Given the description of an element on the screen output the (x, y) to click on. 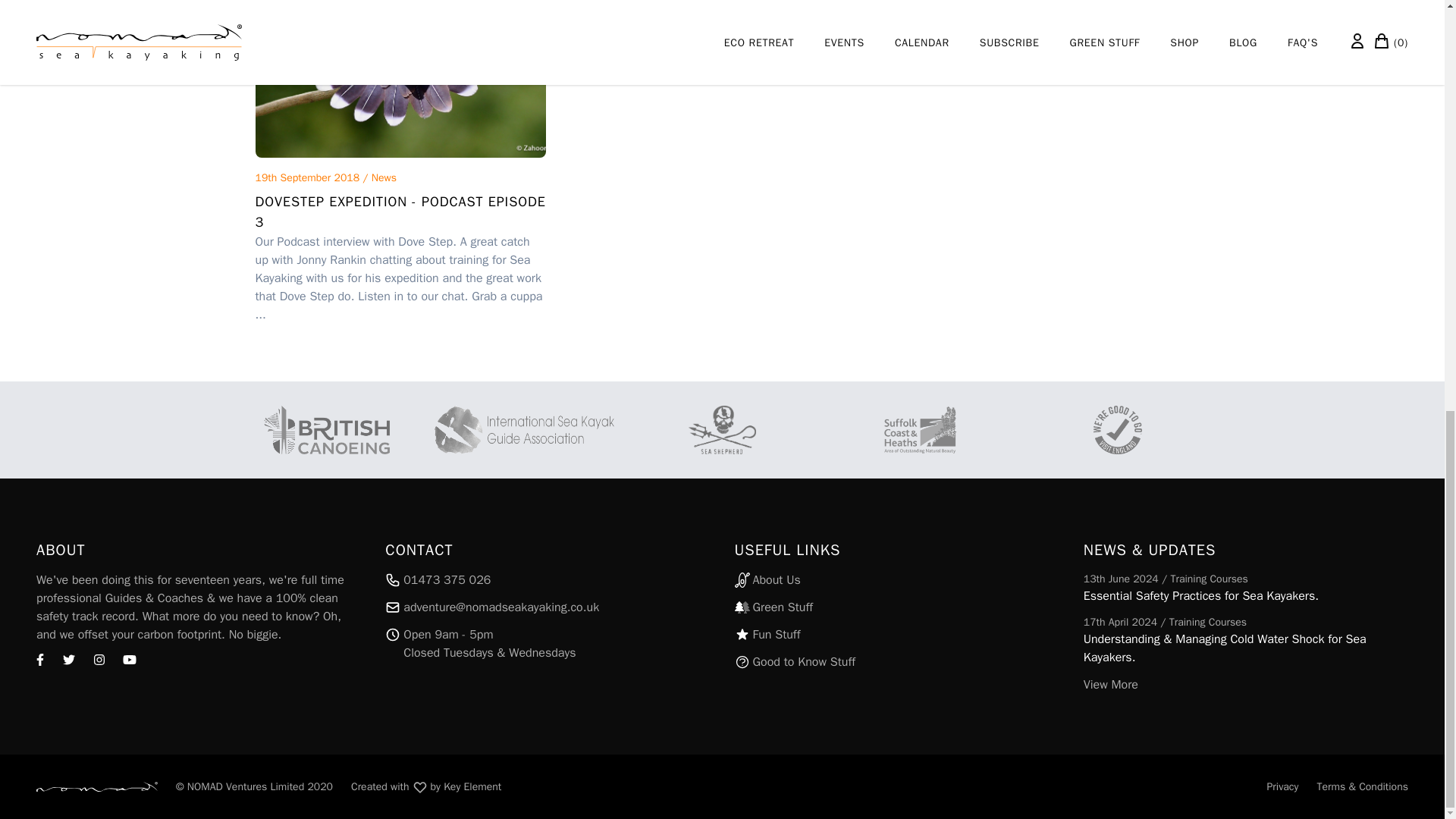
Fun Stuff (895, 634)
View More (1245, 684)
Privacy (1282, 786)
Green Stuff (895, 607)
Good to Know Stuff (895, 661)
About Us (895, 579)
01473 375 026 (547, 579)
